Given the description of an element on the screen output the (x, y) to click on. 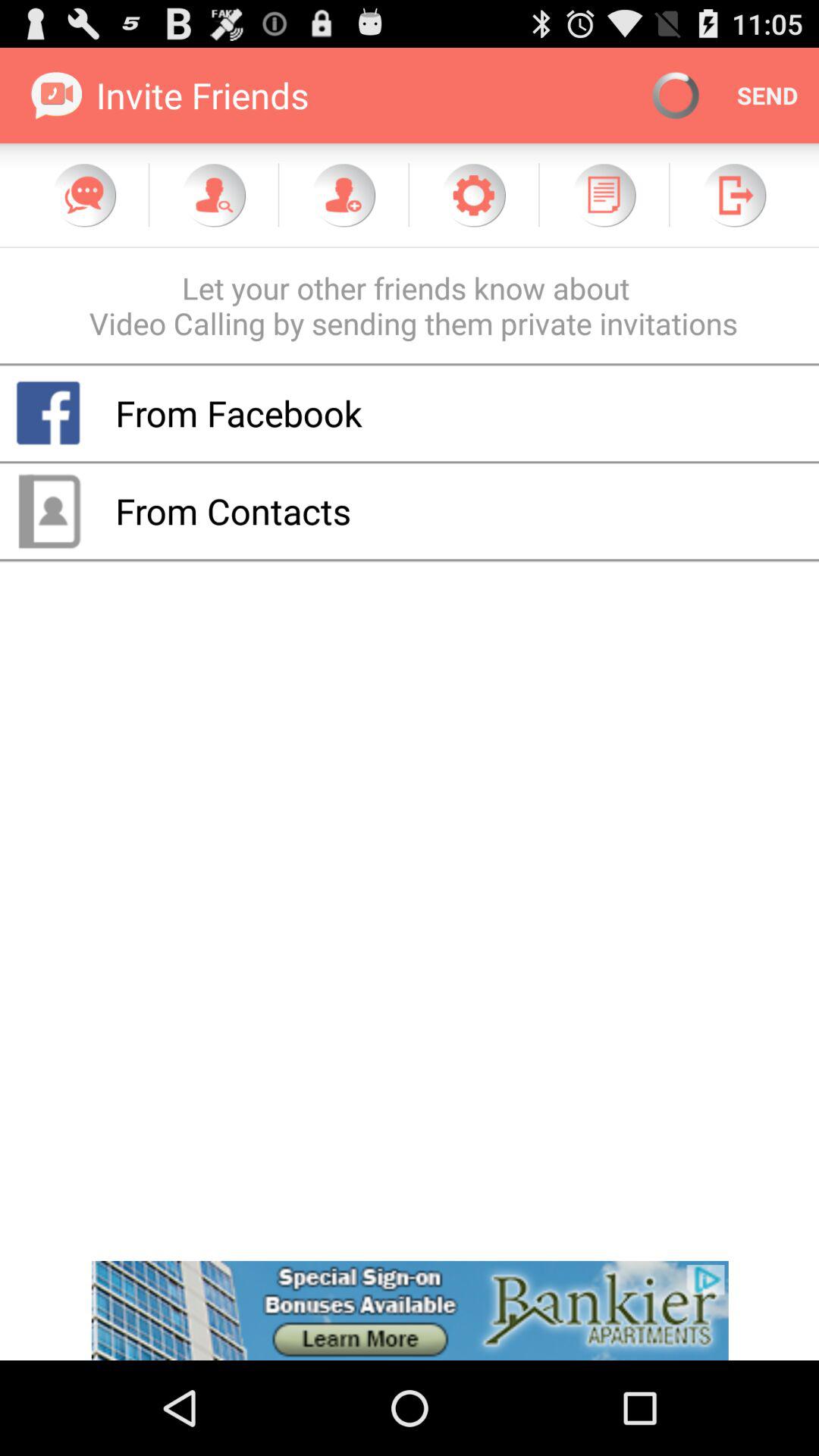
settings optin (473, 194)
